Given the description of an element on the screen output the (x, y) to click on. 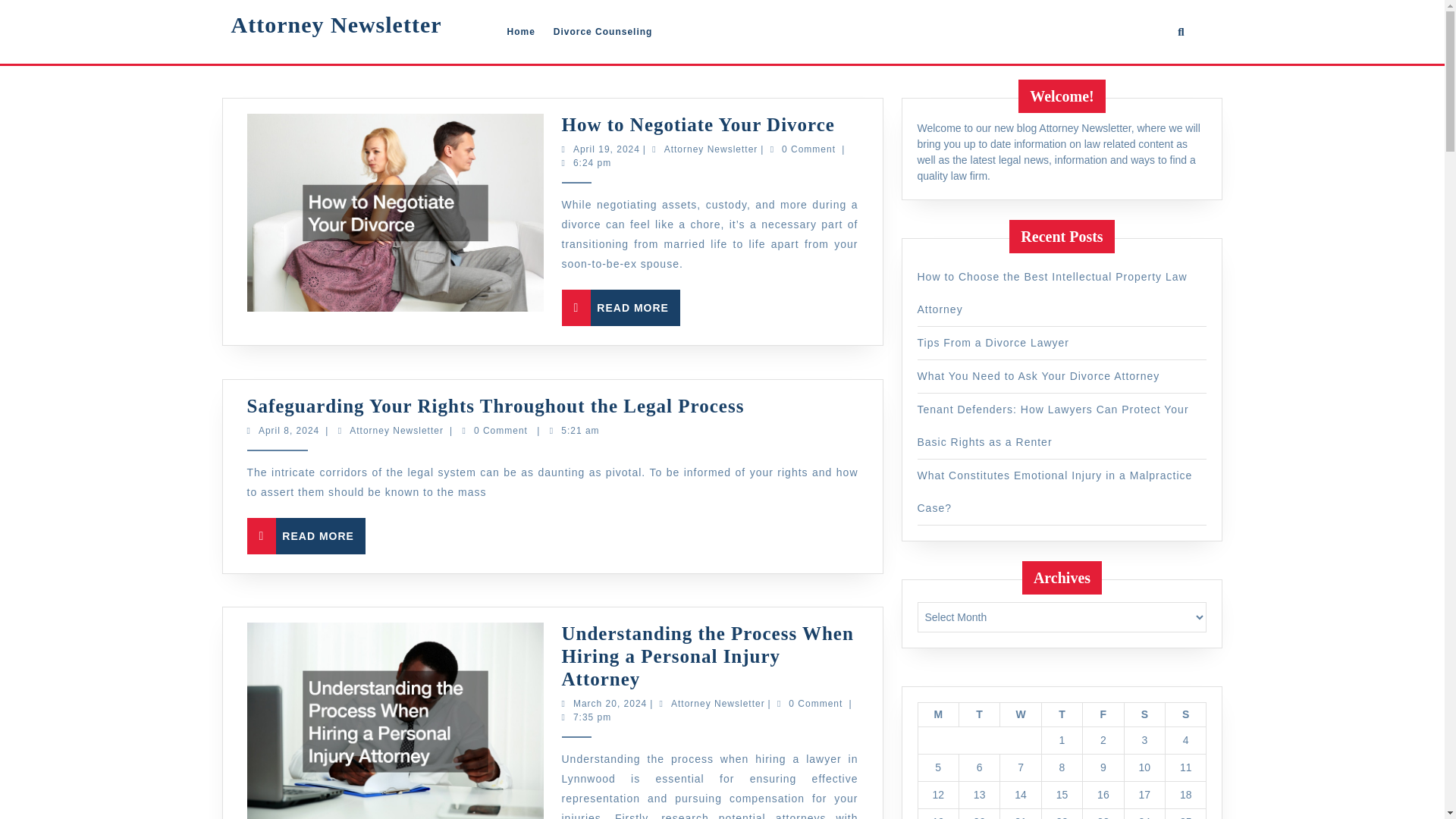
Monday (528, 703)
Home (937, 713)
Tuesday (520, 31)
Thursday (5, 149)
Wednesday (978, 713)
How to Choose the Best Intellectual Property Law Attorney (34, 535)
What You Need to Ask Your Divorce Attorney (1061, 713)
Attorney Newsletter (1020, 713)
